Given the description of an element on the screen output the (x, y) to click on. 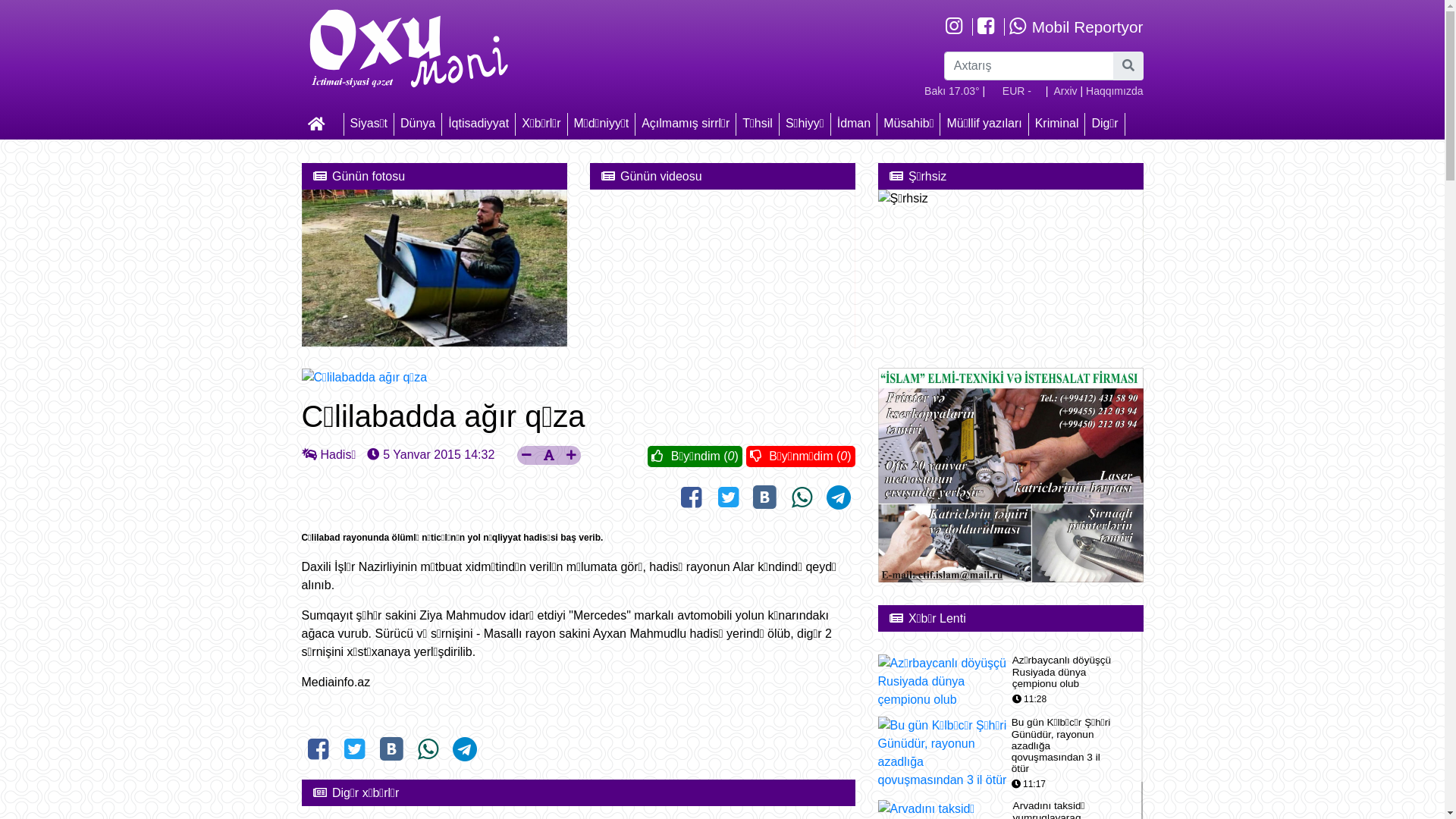
Mobil Reportyor Element type: text (1074, 26)
Kriminal Element type: text (1057, 122)
Arxiv Element type: text (1064, 90)
